Given the description of an element on the screen output the (x, y) to click on. 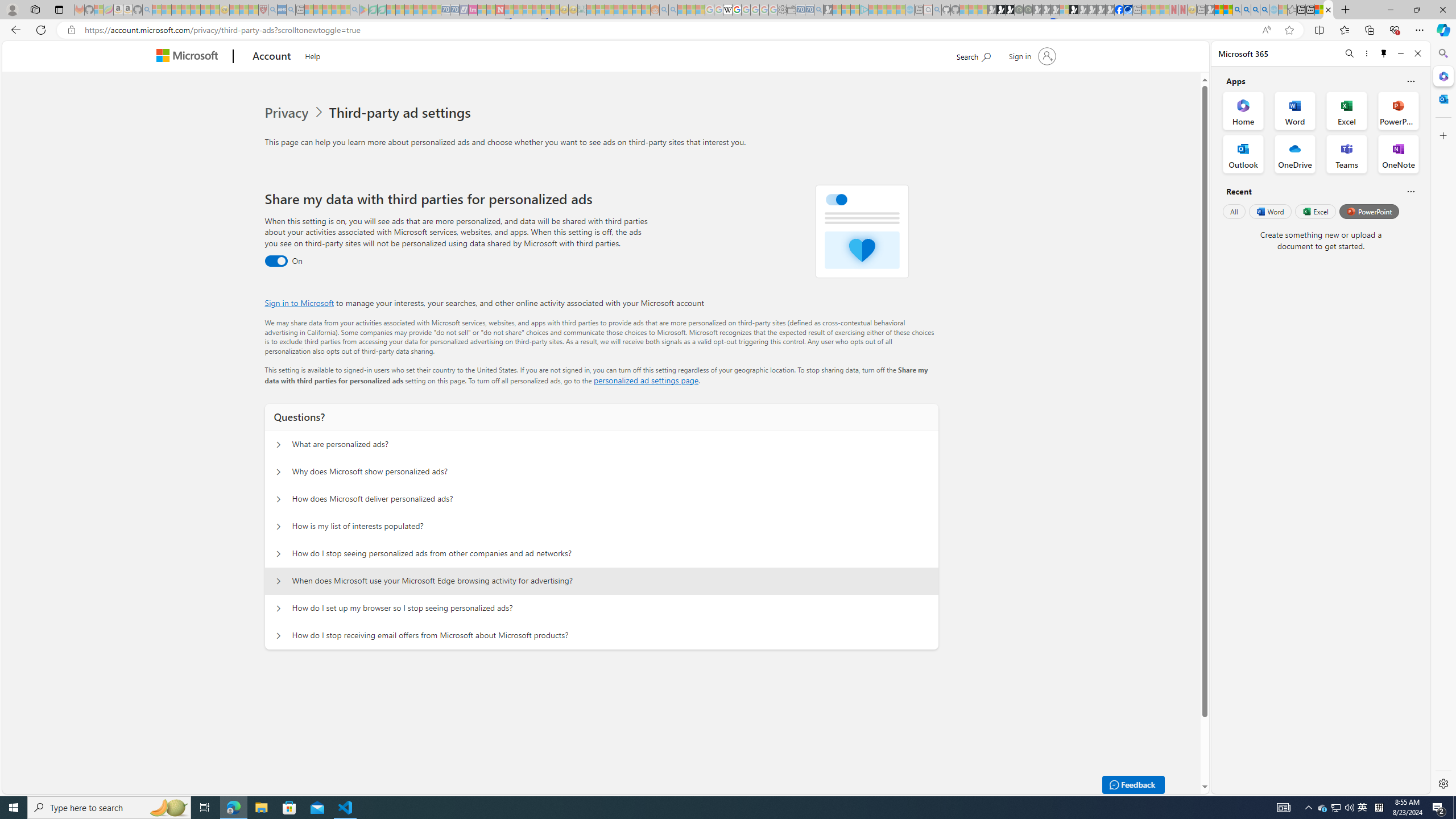
Questions? Why does Microsoft show personalized ads? (278, 472)
personalized ad settings page (645, 379)
Sign in to Microsoft (299, 302)
